Given the description of an element on the screen output the (x, y) to click on. 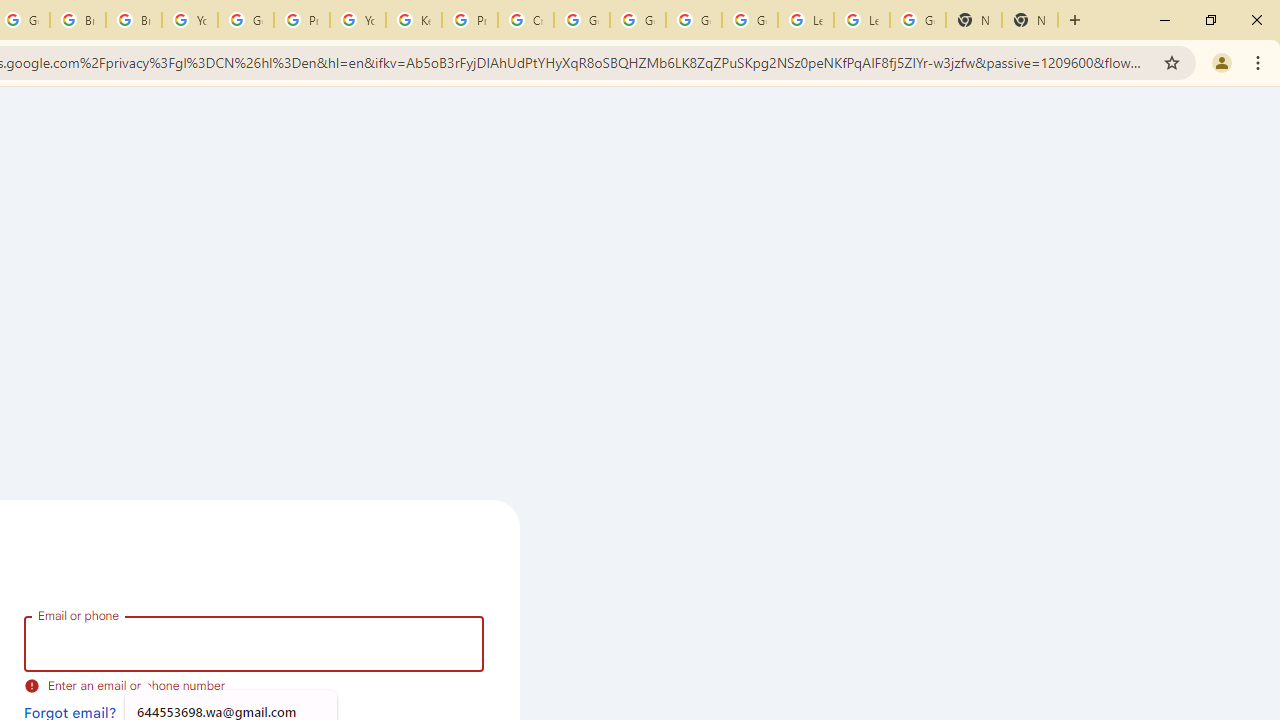
Email or phone (253, 643)
Create your Google Account (525, 20)
Google Account (917, 20)
YouTube (358, 20)
Google Account Help (582, 20)
Google Account Help (749, 20)
New Tab (1030, 20)
